Given the description of an element on the screen output the (x, y) to click on. 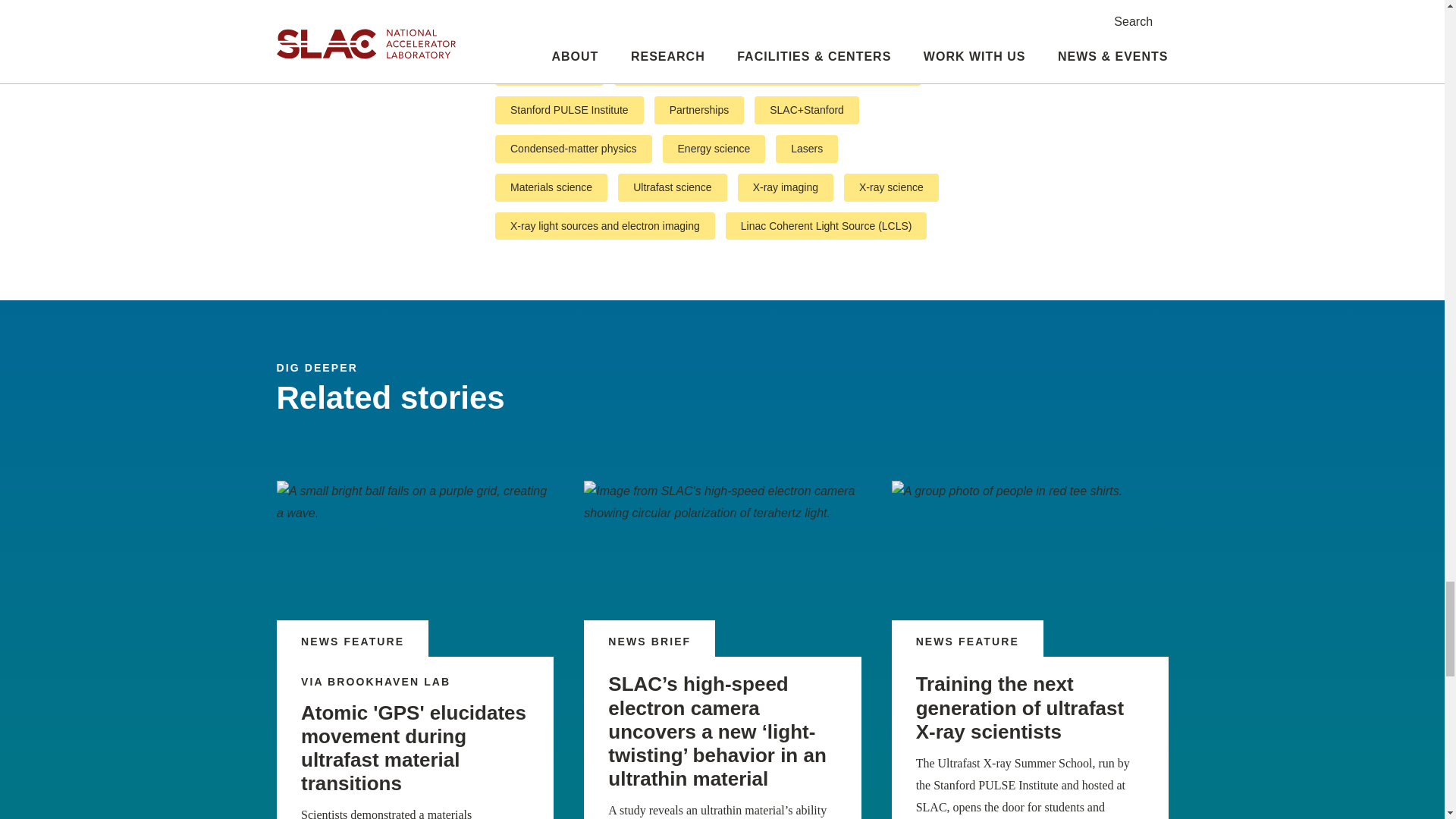
Energy science (713, 148)
X-ray light sources and electron imaging (604, 225)
Ultrafast science (671, 186)
X-ray imaging (784, 186)
Stanford PULSE Institute (569, 110)
Materials science (551, 186)
Condensed-matter physics (572, 148)
X-ray science (891, 186)
Partnerships (698, 110)
